Given the description of an element on the screen output the (x, y) to click on. 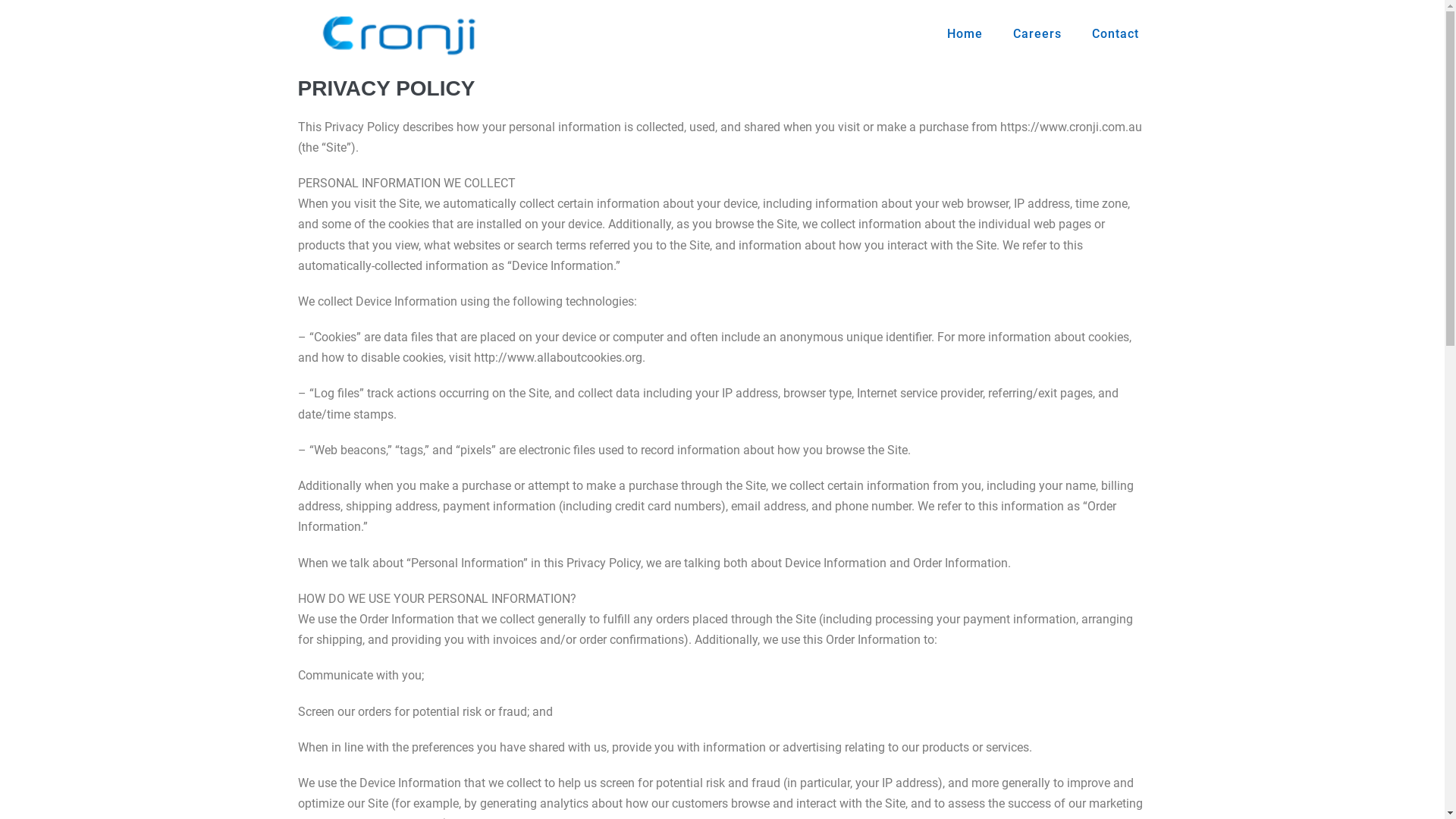
Contact Element type: text (1115, 34)
Careers Element type: text (1036, 34)
Home Element type: text (964, 34)
